Given the description of an element on the screen output the (x, y) to click on. 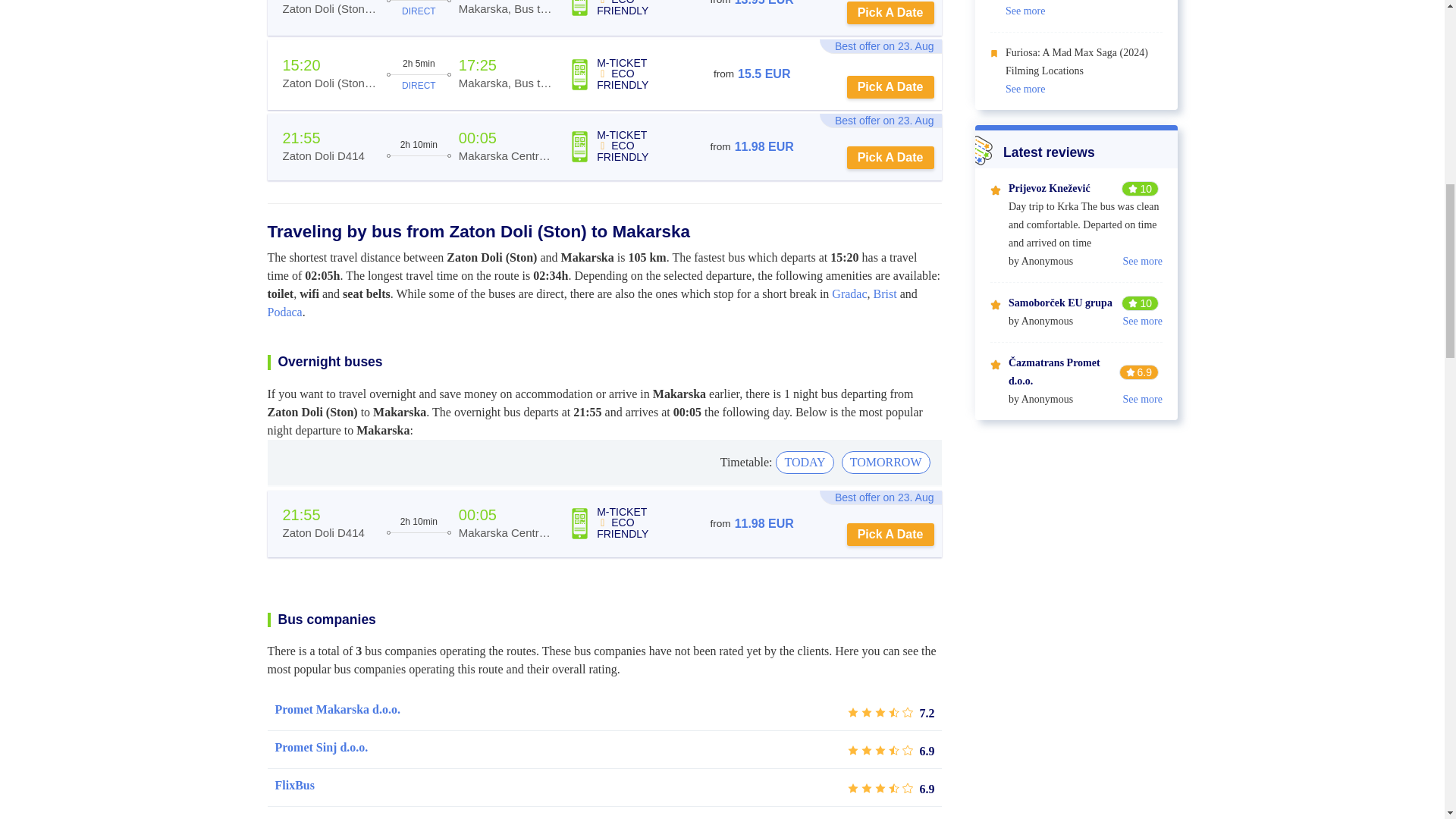
TODAY (804, 461)
Promet Makarska d.o.o. (336, 710)
Podaca (283, 311)
TOMORROW (885, 461)
Brist (884, 293)
Gradac (848, 293)
Promet Sinj d.o.o. (321, 747)
FlixBus (294, 785)
